Given the description of an element on the screen output the (x, y) to click on. 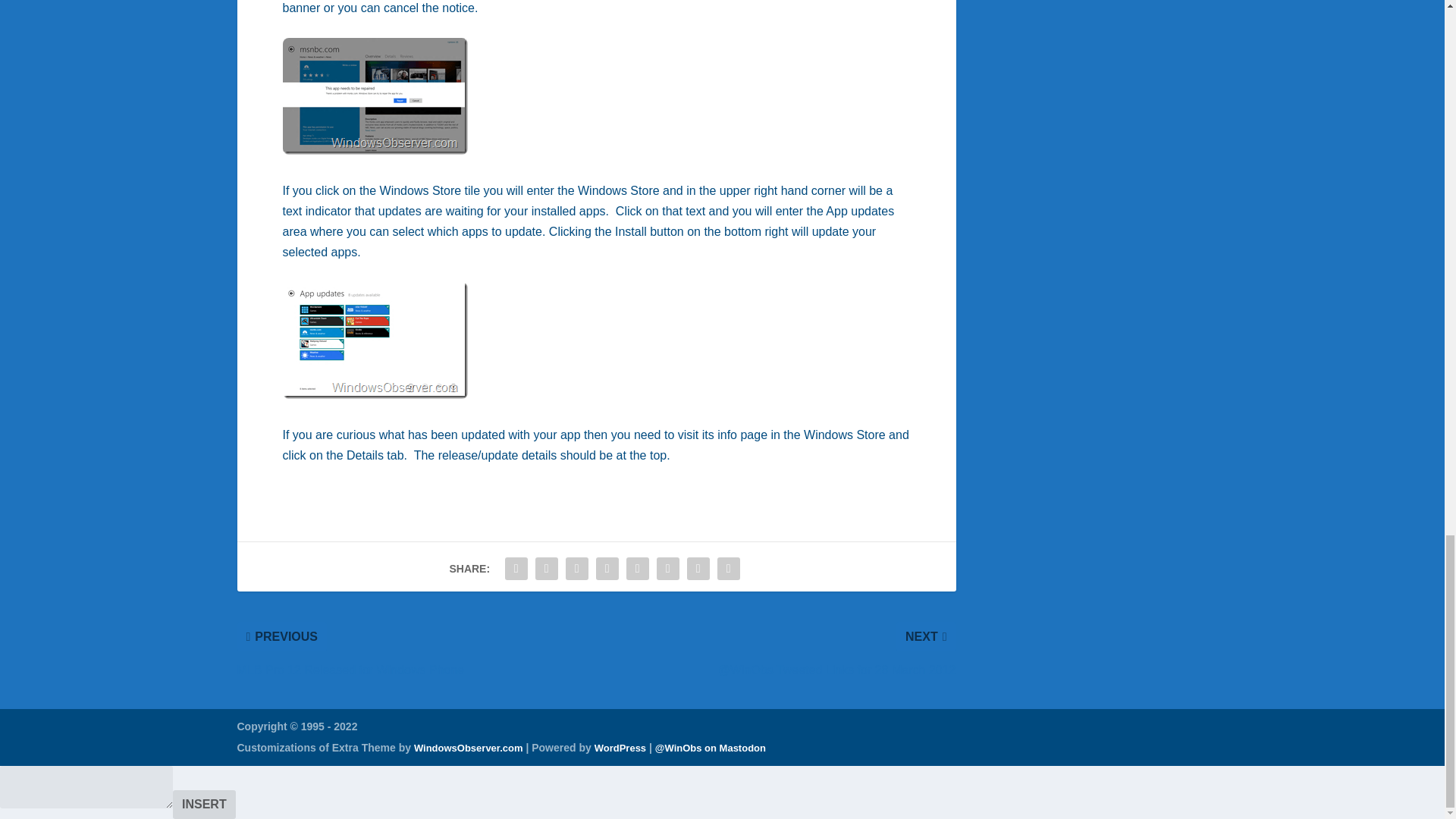
windows8appsneedrepairedupdates (374, 339)
windows8appneedsrepairednotification (374, 95)
